Given the description of an element on the screen output the (x, y) to click on. 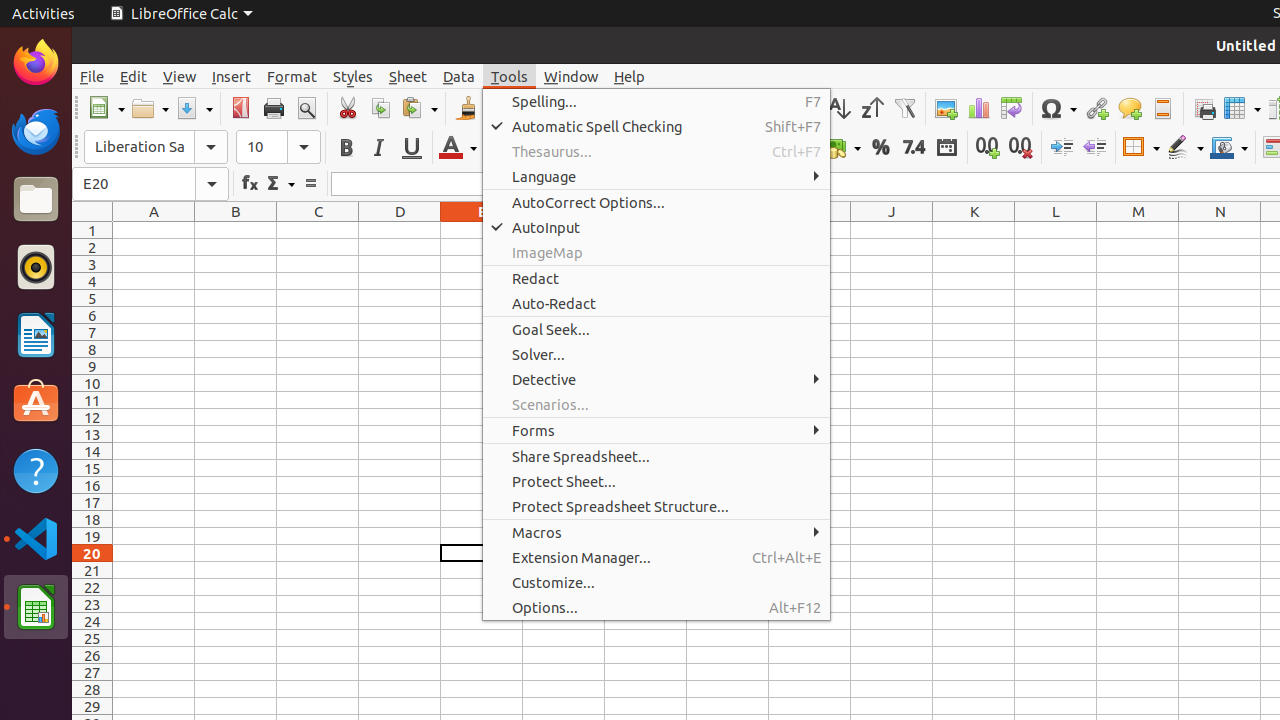
Goal Seek... Element type: menu-item (656, 329)
N1 Element type: table-cell (1220, 230)
Rhythmbox Element type: push-button (36, 267)
Spelling... Element type: menu-item (656, 101)
Paste Element type: push-button (419, 108)
